Given the description of an element on the screen output the (x, y) to click on. 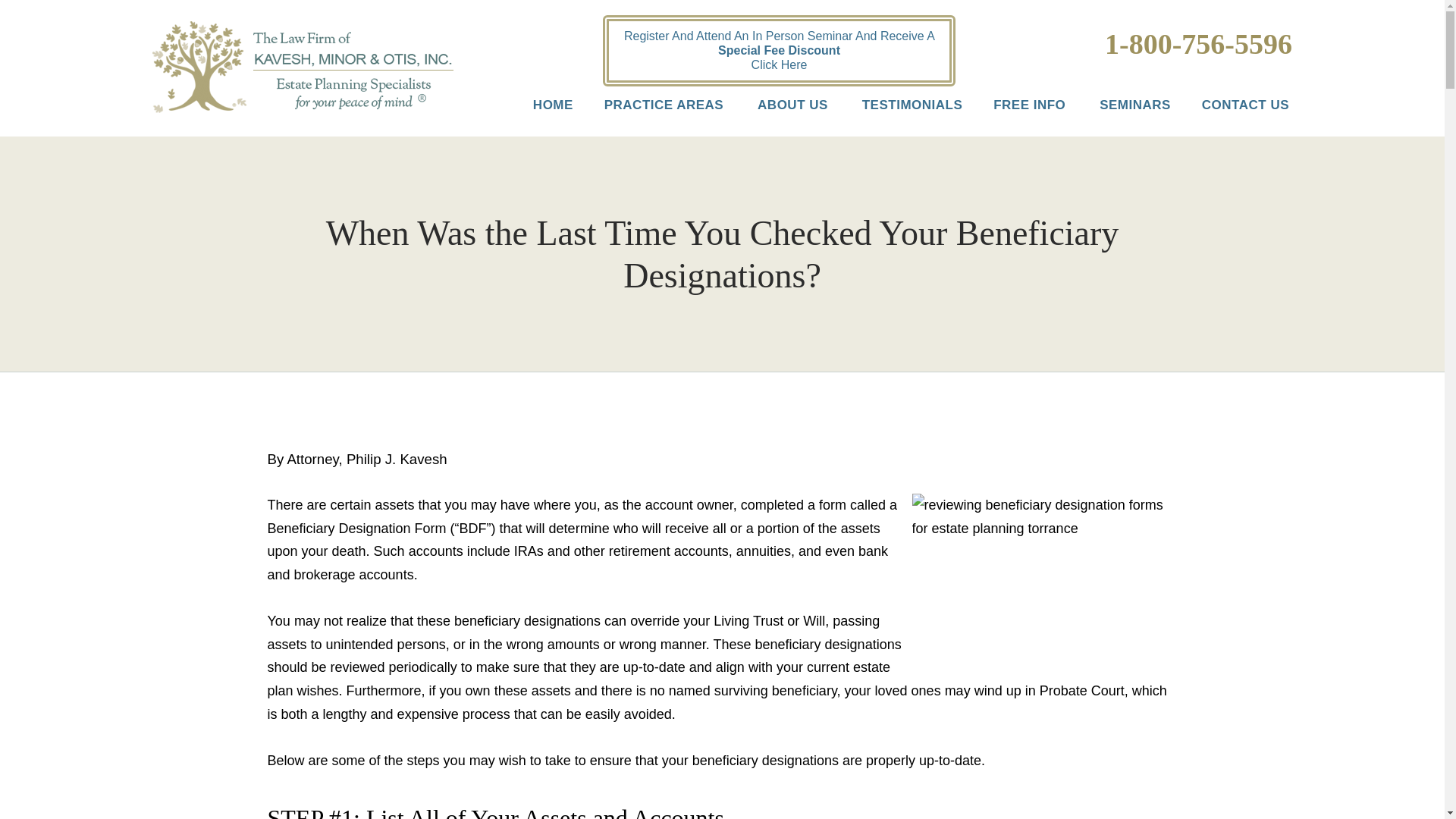
SEMINARS (1119, 111)
ABOUT US (778, 111)
TESTIMONIALS (896, 111)
FREE INFO (1015, 111)
PRACTICE AREAS (649, 111)
HOME (537, 111)
CONTACT US (1231, 111)
